Given the description of an element on the screen output the (x, y) to click on. 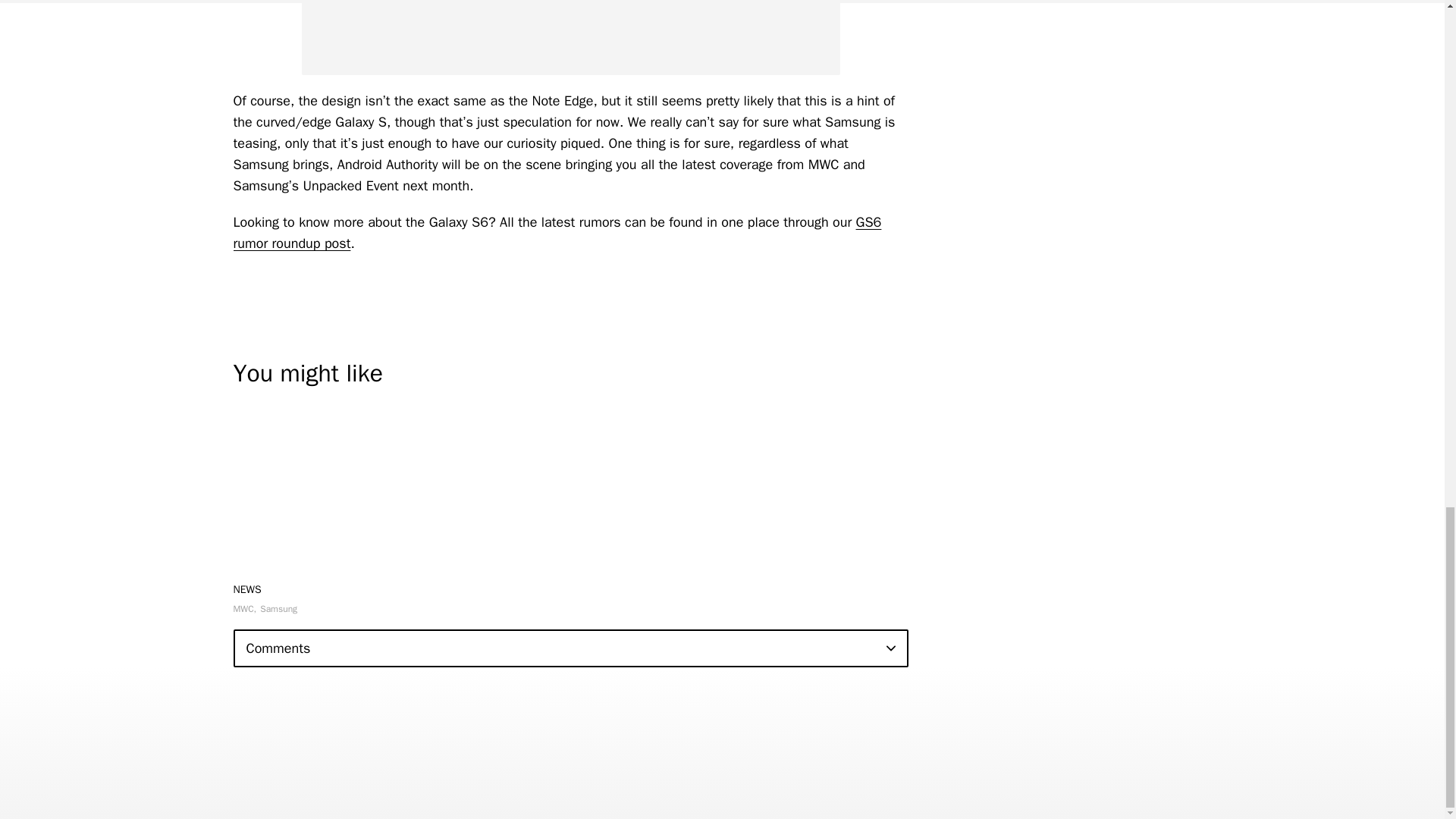
gs6-note-edge (570, 37)
Samsung (278, 608)
Comments (570, 648)
GS6 rumor roundup post (557, 232)
NEWS (247, 589)
MWC (244, 608)
